Given the description of an element on the screen output the (x, y) to click on. 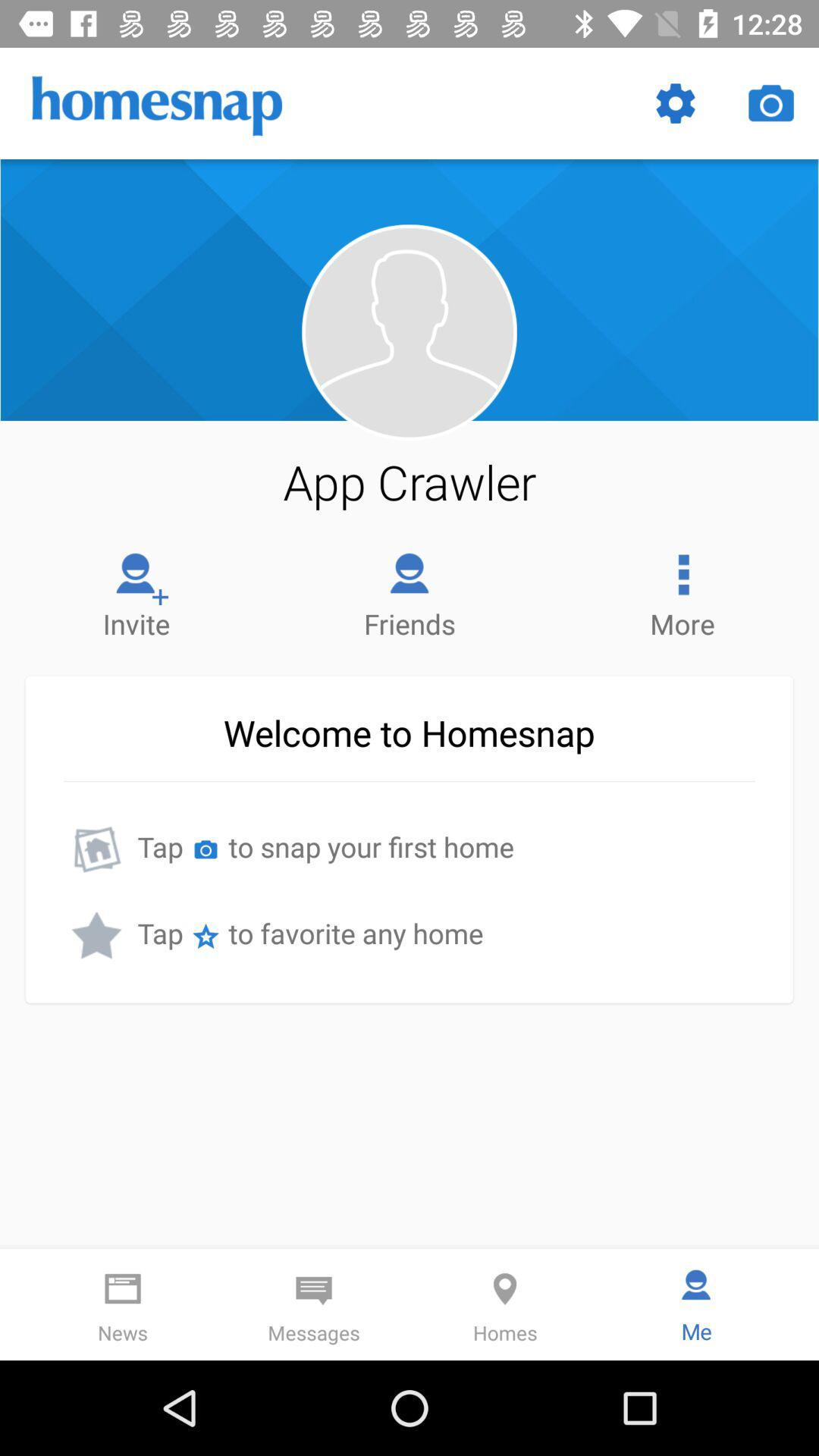
tap the item above app crawler item (408, 331)
